Given the description of an element on the screen output the (x, y) to click on. 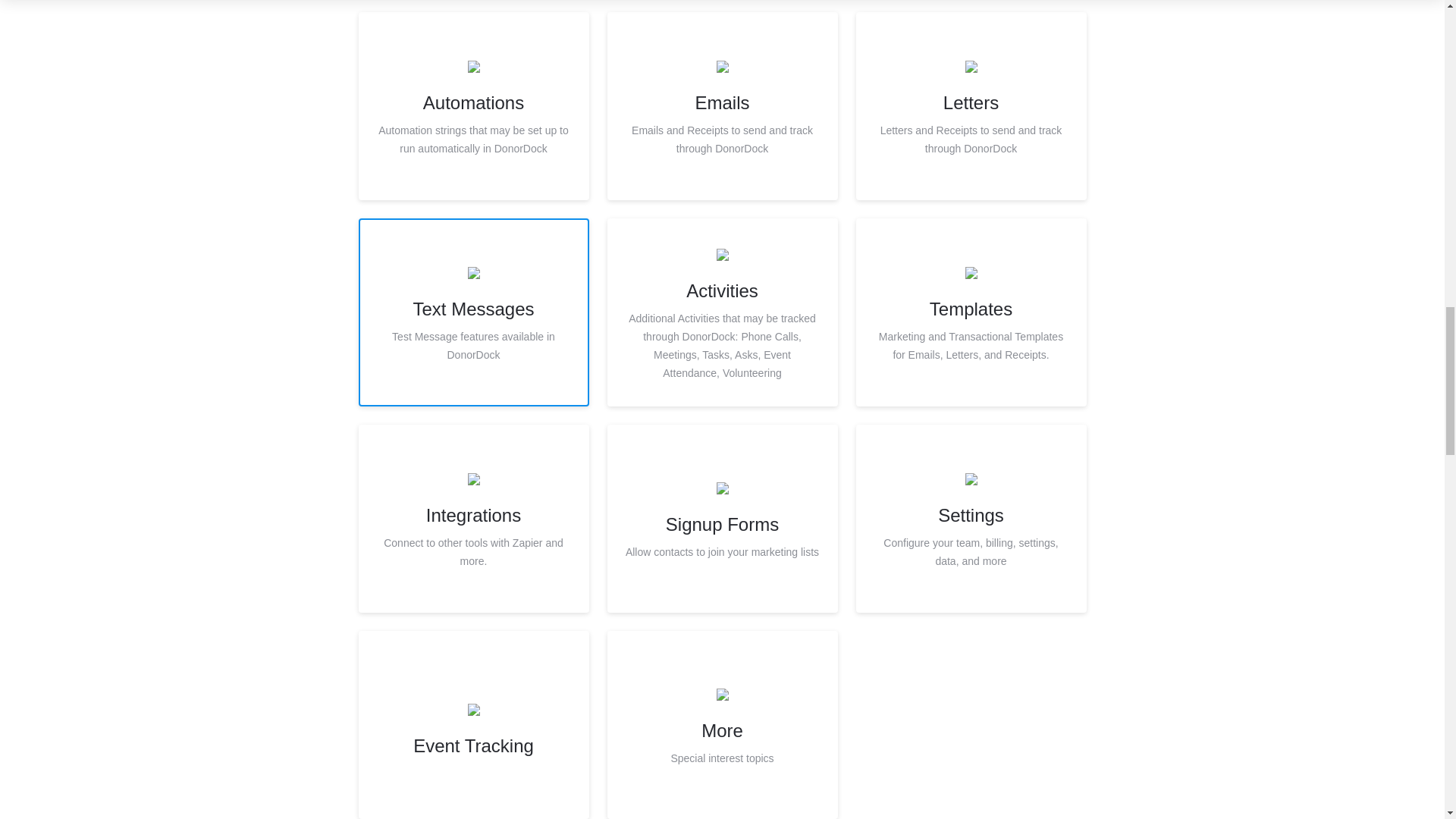
Event Tracking (722, 724)
